Given the description of an element on the screen output the (x, y) to click on. 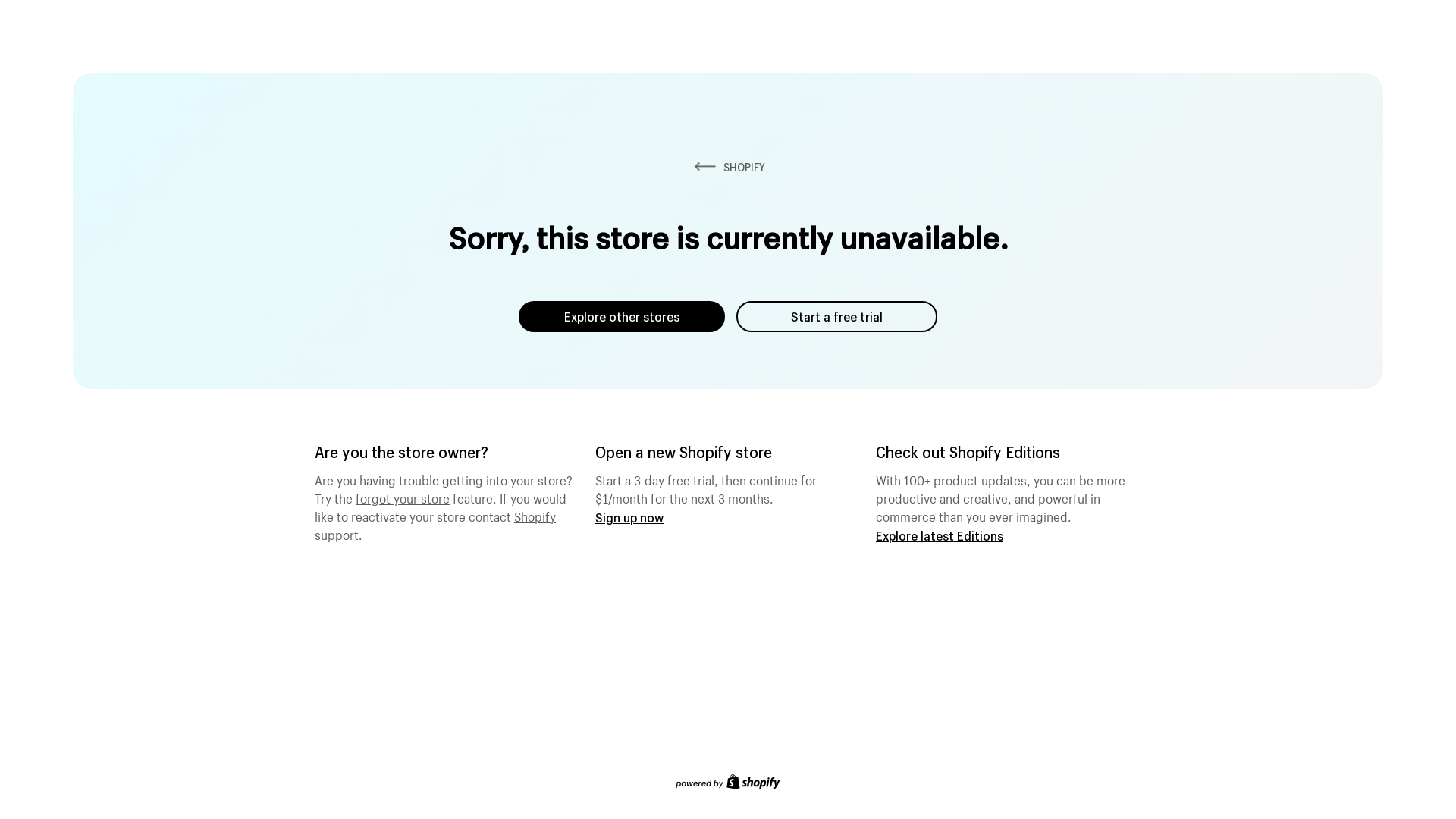
Start a free trial Element type: text (836, 316)
forgot your store Element type: text (402, 496)
Explore latest Editions Element type: text (939, 535)
Explore other stores Element type: text (621, 316)
SHOPIFY Element type: text (727, 167)
Sign up now Element type: text (629, 517)
Shopify support Element type: text (434, 523)
